Given the description of an element on the screen output the (x, y) to click on. 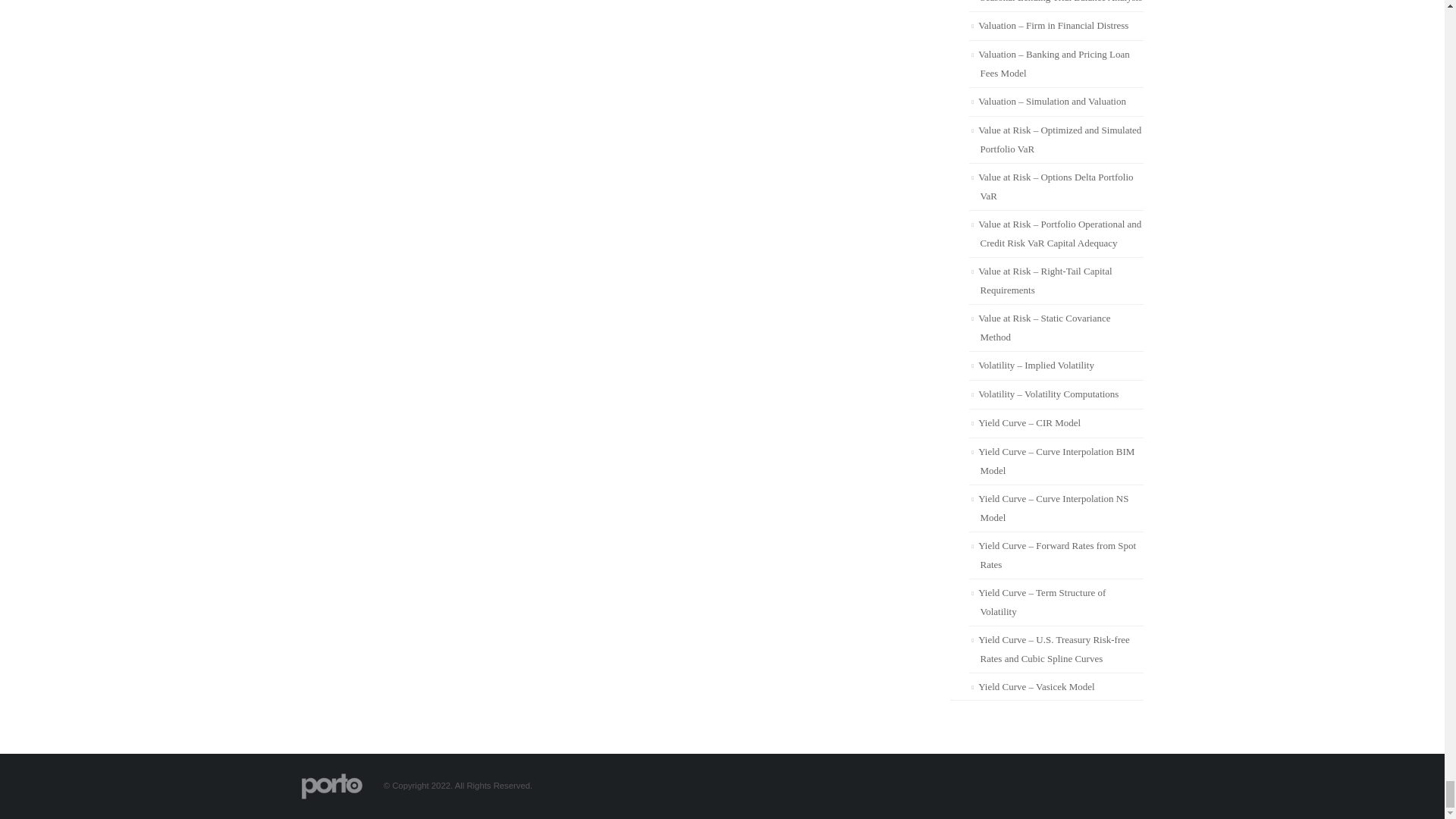
ROV - ROVUSA (331, 785)
